Given the description of an element on the screen output the (x, y) to click on. 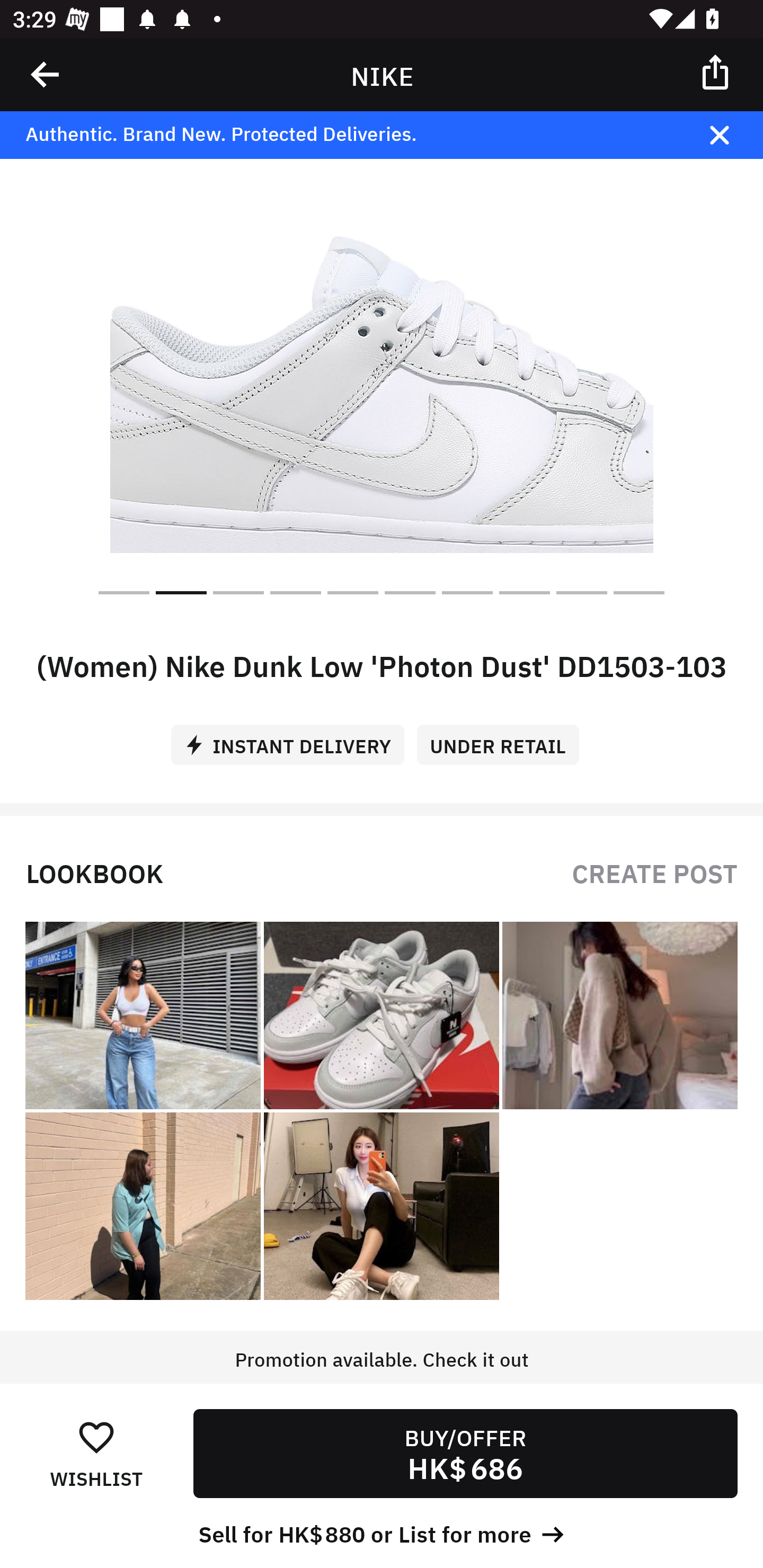
 (46, 74)
 (716, 70)
Authentic. Brand New. Protected Deliveries. (350, 134)
 (732, 134)
 INSTANT DELIVERY (293, 738)
UNDER RETAIL (504, 738)
CREATE POST (654, 872)
Promotion available. Check it out (381, 1377)
BUY/OFFER HK$ 686 (465, 1453)
󰋕 (95, 1435)
Sell for HK$ 880 or List for more (381, 1532)
